Given the description of an element on the screen output the (x, y) to click on. 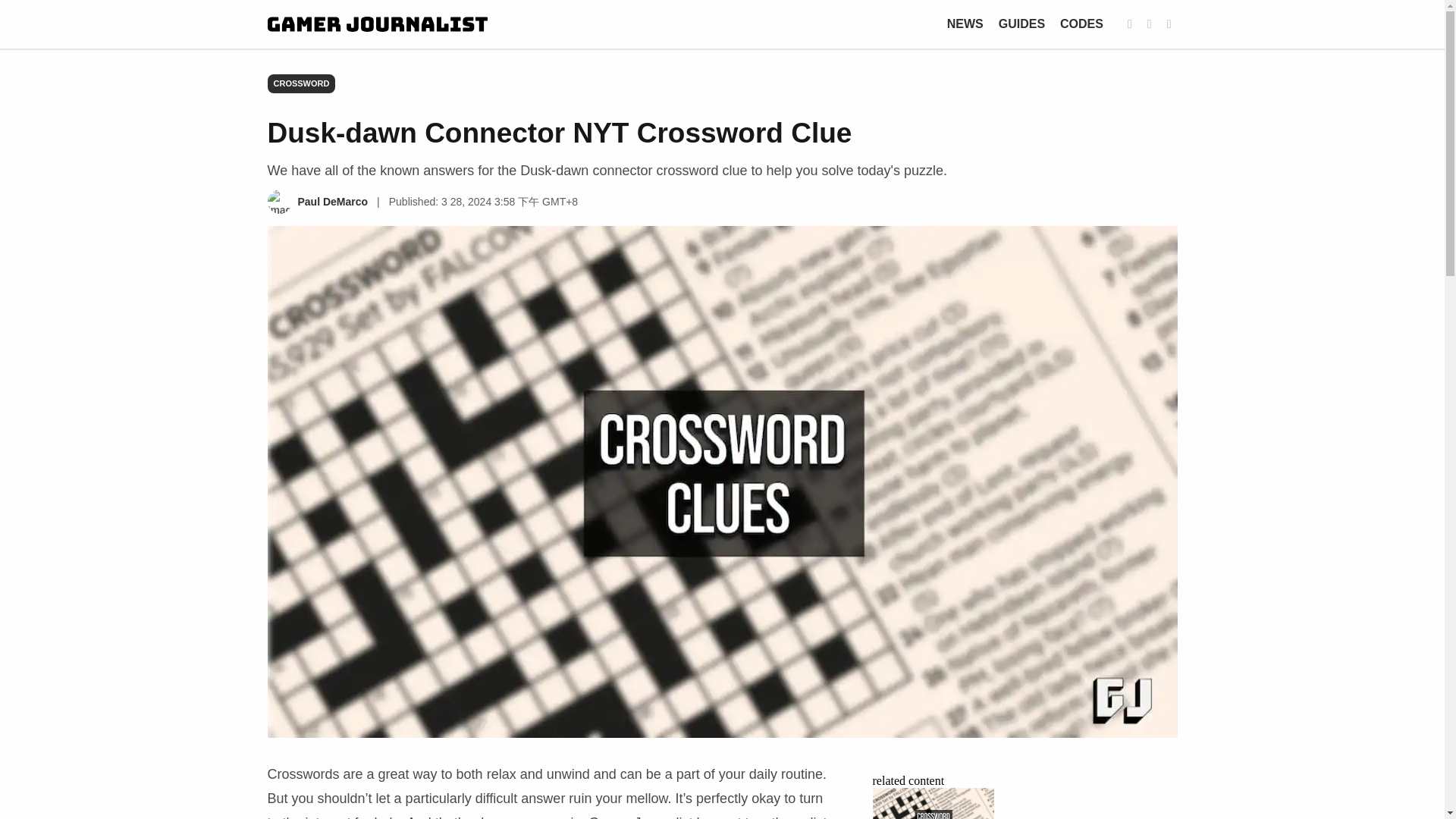
CODES (1081, 23)
NEWS (965, 23)
GUIDES (1021, 23)
CROSSWORD (300, 83)
